Given the description of an element on the screen output the (x, y) to click on. 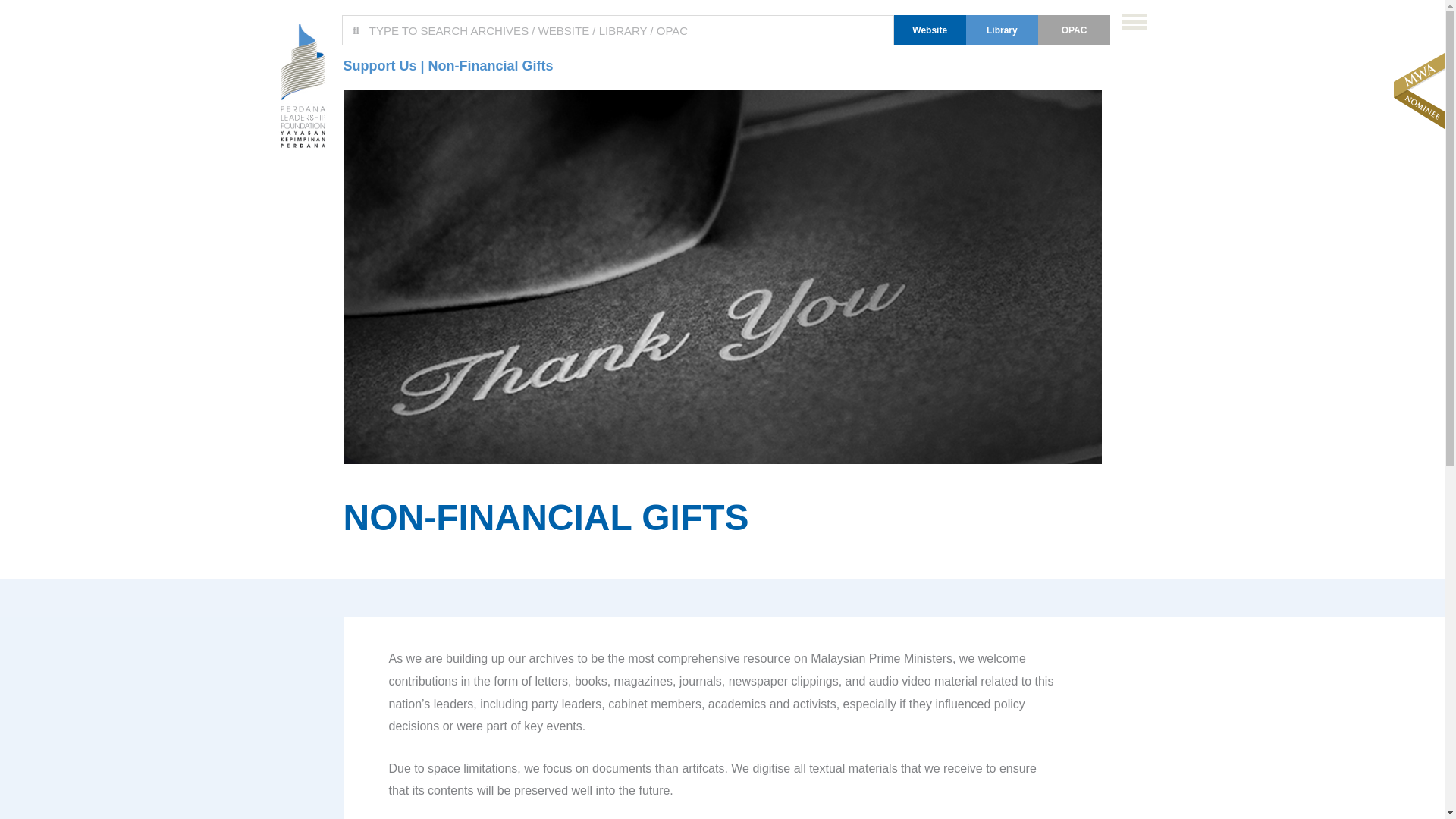
Search (625, 30)
